Given the description of an element on the screen output the (x, y) to click on. 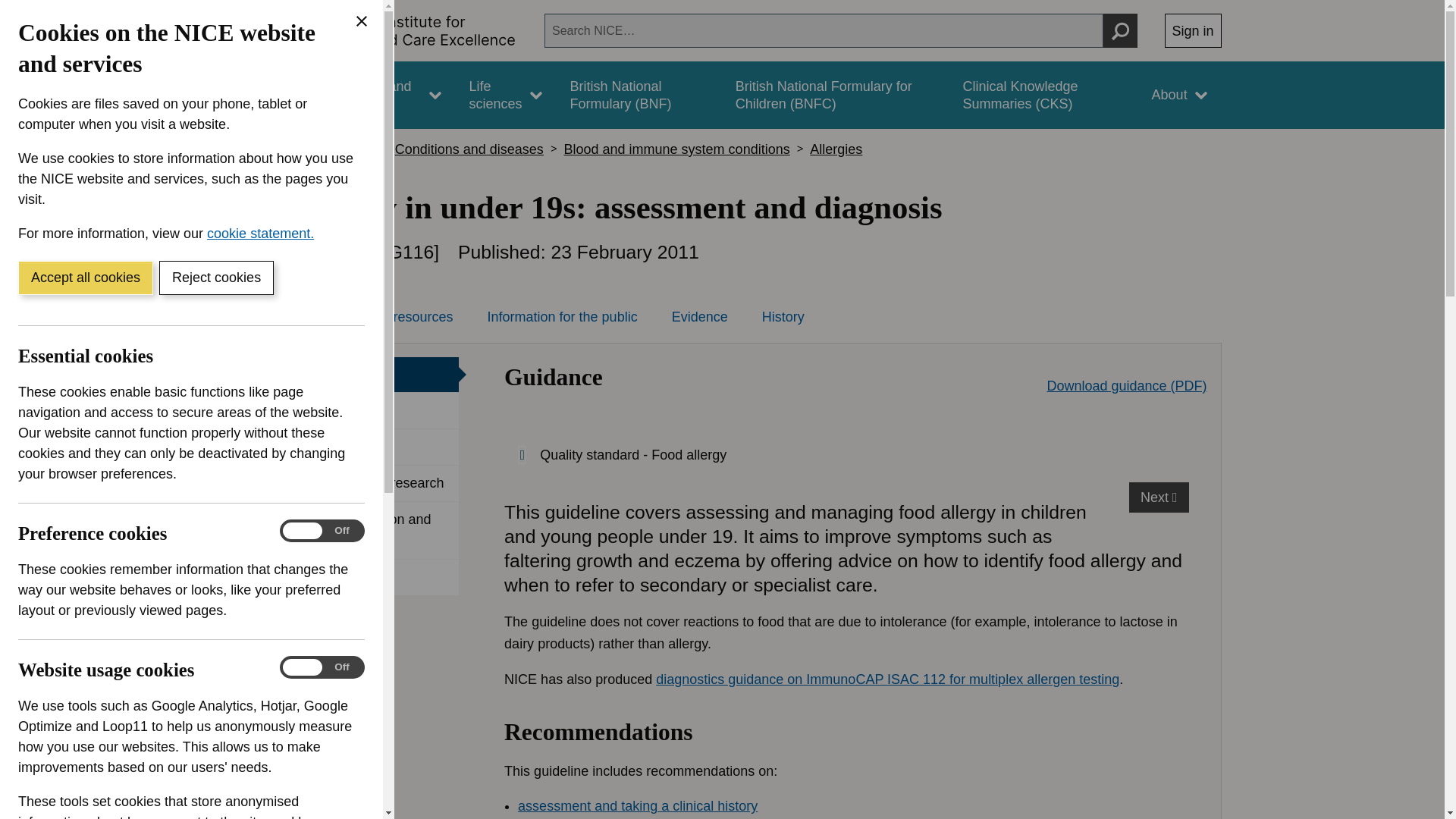
Guidance (265, 94)
Standards and indicators (381, 94)
Sign in (1192, 30)
Life sciences (505, 94)
Accept all cookies (84, 277)
Reject cookies (215, 277)
